Given the description of an element on the screen output the (x, y) to click on. 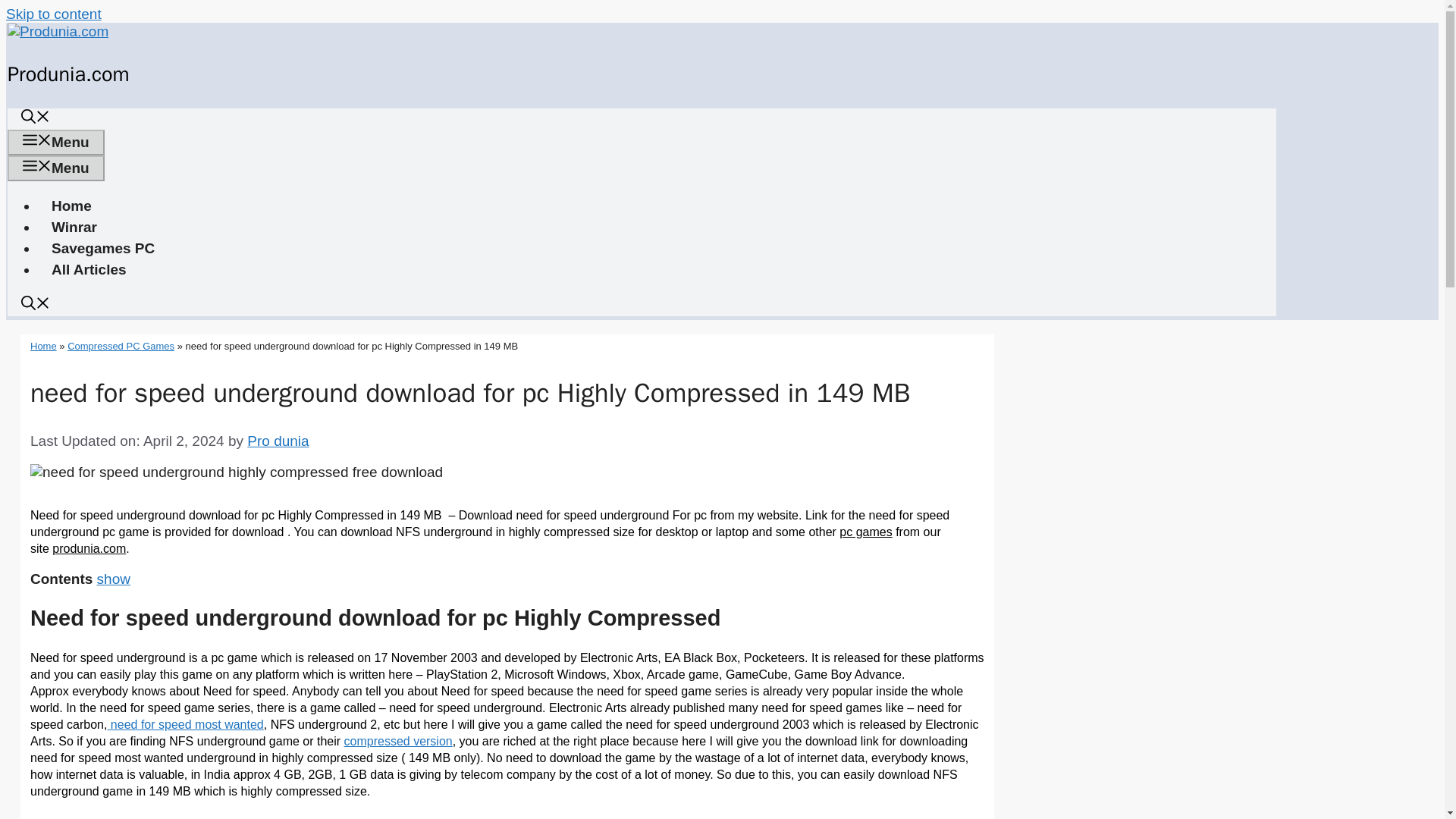
Pro dunia (277, 440)
Skip to content (53, 13)
All Articles (88, 269)
Menu (55, 142)
Compressed PC Games (120, 346)
need for speed most wanted (184, 724)
Winrar (73, 227)
Produnia.com (68, 73)
show (114, 578)
compressed version (397, 740)
Home (70, 205)
Skip to content (53, 13)
pc games (865, 531)
Savegames PC (102, 248)
View all posts by Pro dunia (277, 440)
